Given the description of an element on the screen output the (x, y) to click on. 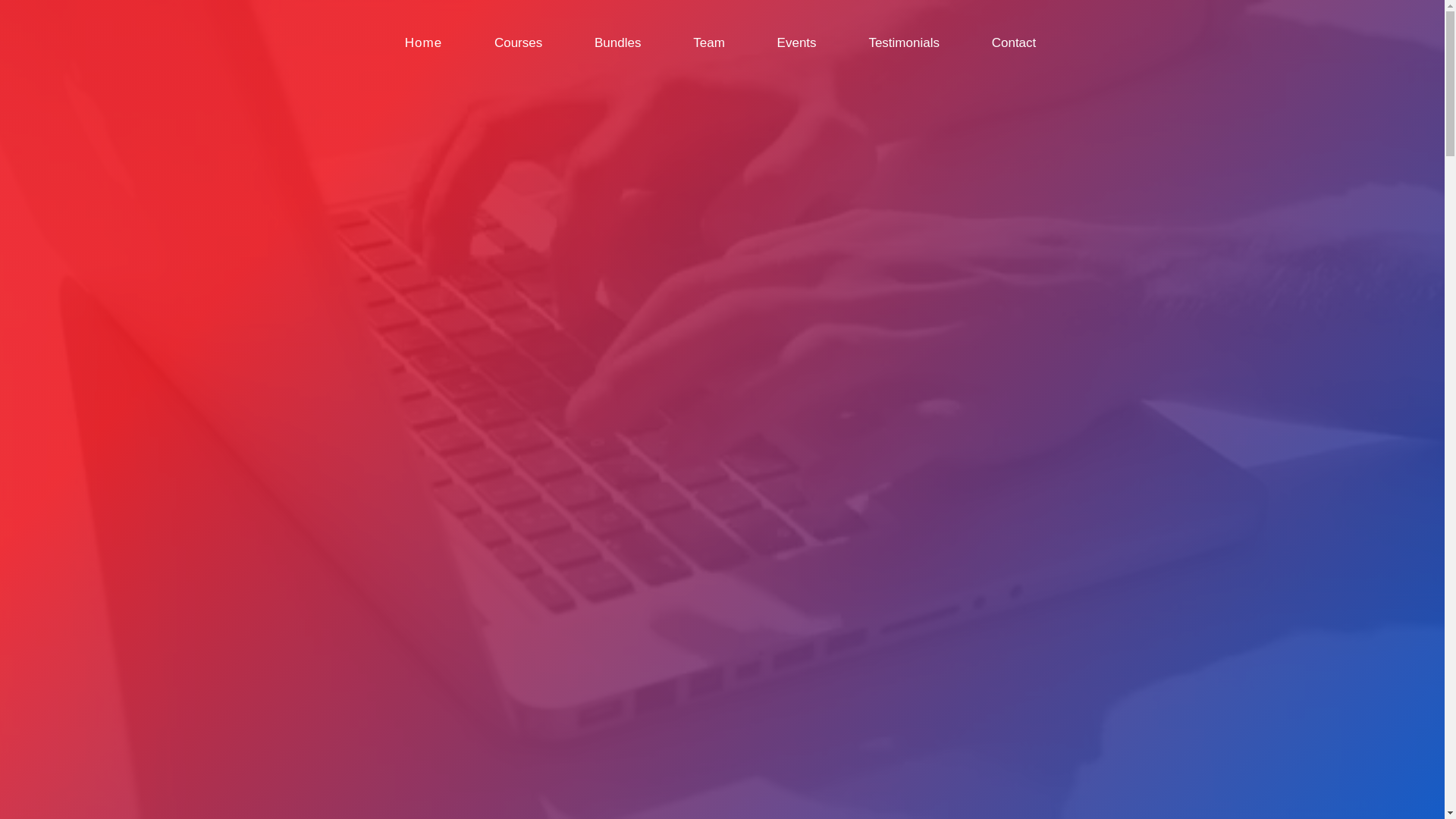
Team Element type: text (708, 43)
Contact Element type: text (1013, 43)
Courses Element type: text (518, 43)
Home Element type: text (423, 43)
Events Element type: text (796, 43)
Testimonials Element type: text (903, 43)
Bundles Element type: text (617, 43)
